Given the description of an element on the screen output the (x, y) to click on. 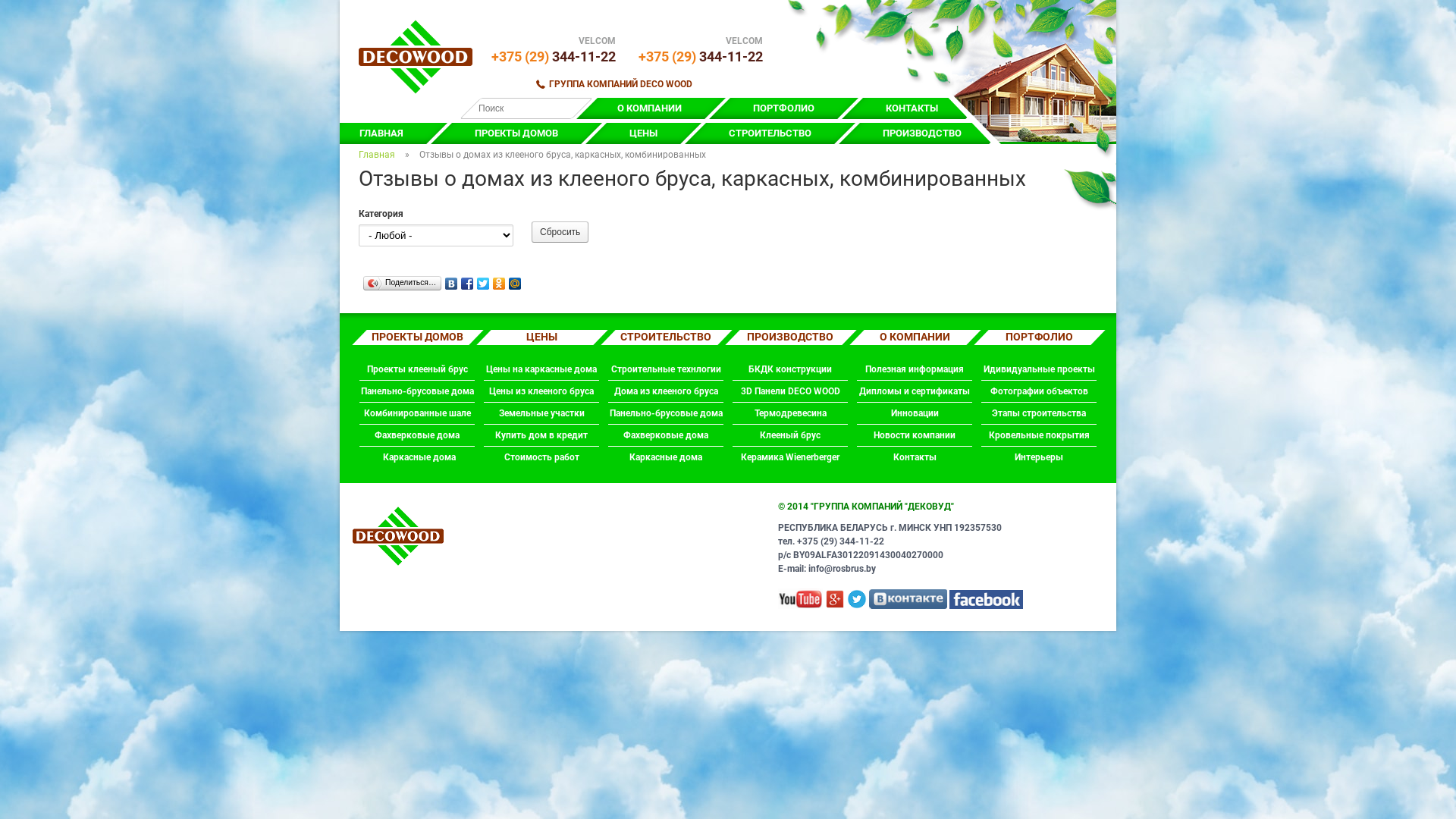
Twitter Element type: hover (483, 279)
Facebook Element type: hover (467, 279)
